Given the description of an element on the screen output the (x, y) to click on. 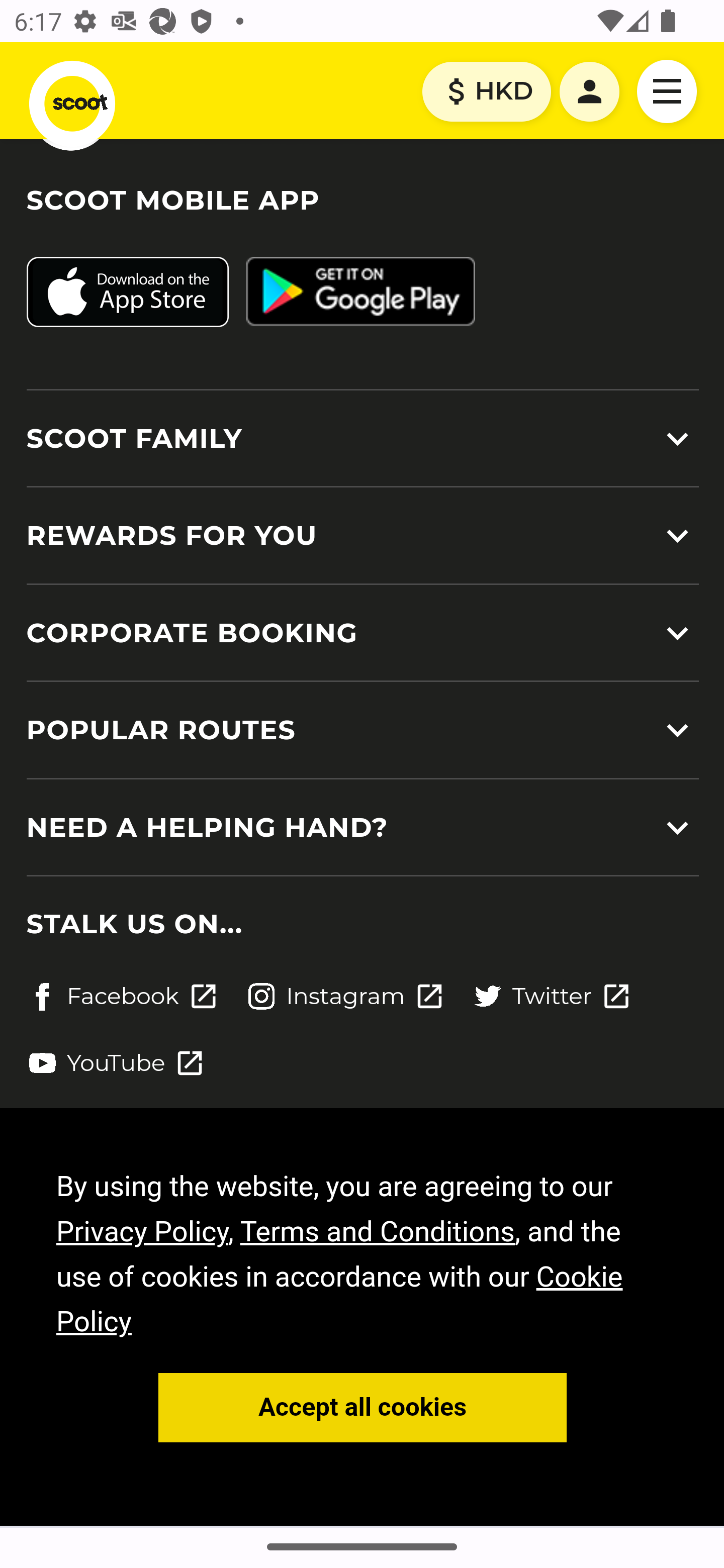
Back to Classic flyscoot.com (69, 108)
id898287610?pt=92295801&ct=flyscoot&mt=8 (126, 293)
googleplay (360, 293)
SCOOT FAMILY keyboard_arrow_down (362, 438)
REWARDS FOR YOU keyboard_arrow_down (362, 535)
CORPORATE BOOKING keyboard_arrow_down (362, 632)
POPULAR ROUTES keyboard_arrow_down (362, 730)
NEED A HELPING HAND? keyboard_arrow_down (362, 827)
Facebook open_in_new Facebook open_in_new (121, 996)
Instagram open_in_new Instagram open_in_new (345, 996)
Twitter open_in_new Twitter open_in_new (552, 996)
YouTube open_in_new YouTube open_in_new (115, 1062)
Privacy Policy (142, 1230)
Terms and Conditions (377, 1230)
Cookie Policy (340, 1299)
Accept all cookies (362, 1407)
